Given the description of an element on the screen output the (x, y) to click on. 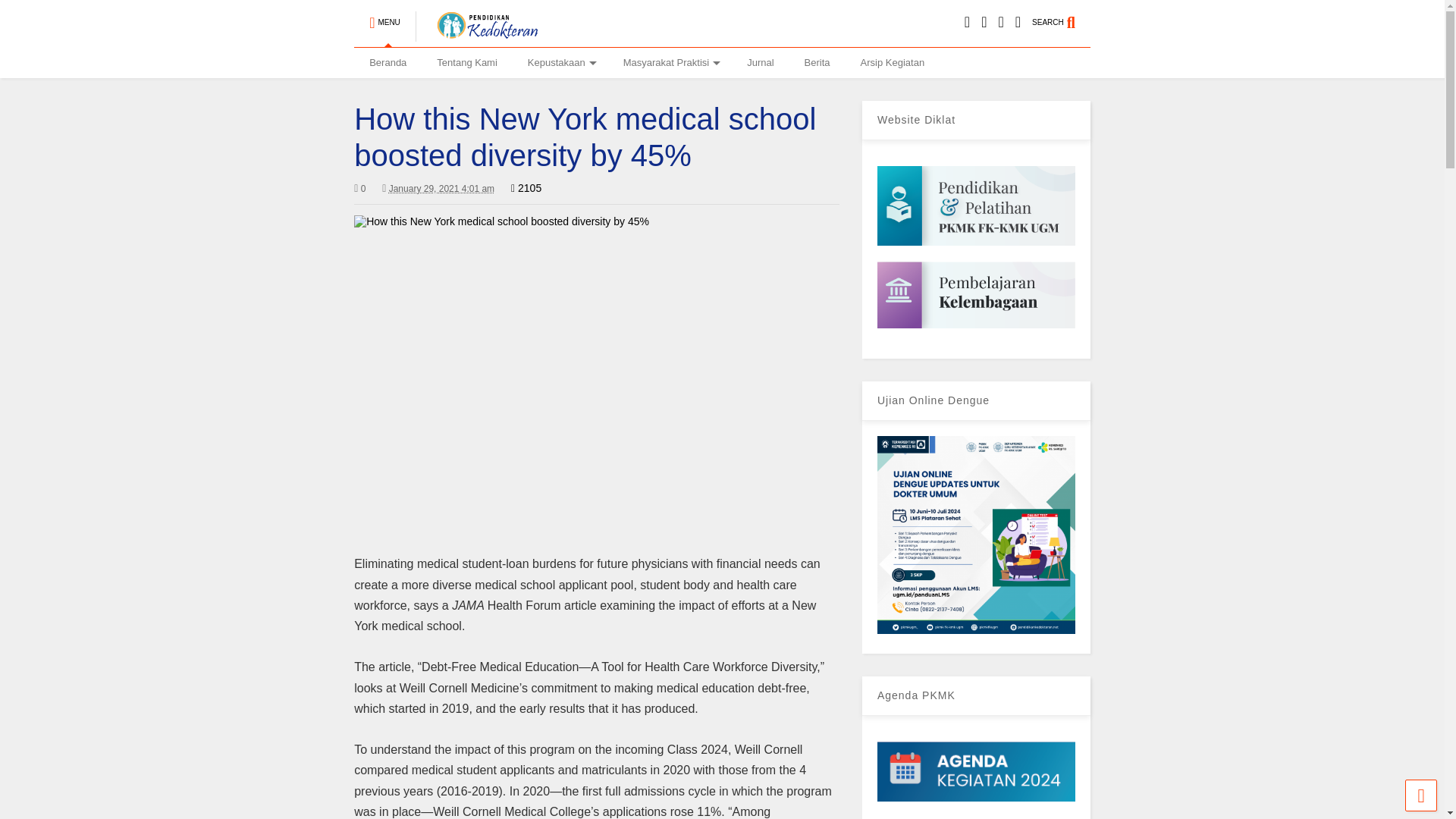
January 29, 2021 4:01 am (441, 188)
Pendidikan Kedokteran (387, 62)
January 29, 2021 4:01 am (438, 188)
MENU (383, 15)
Kepustakaan (560, 62)
Pendidikan Kedokteran (479, 34)
Jurnal (760, 62)
Arsip Kegiatan (892, 62)
SEARCH (1061, 15)
Beranda (387, 62)
